Given the description of an element on the screen output the (x, y) to click on. 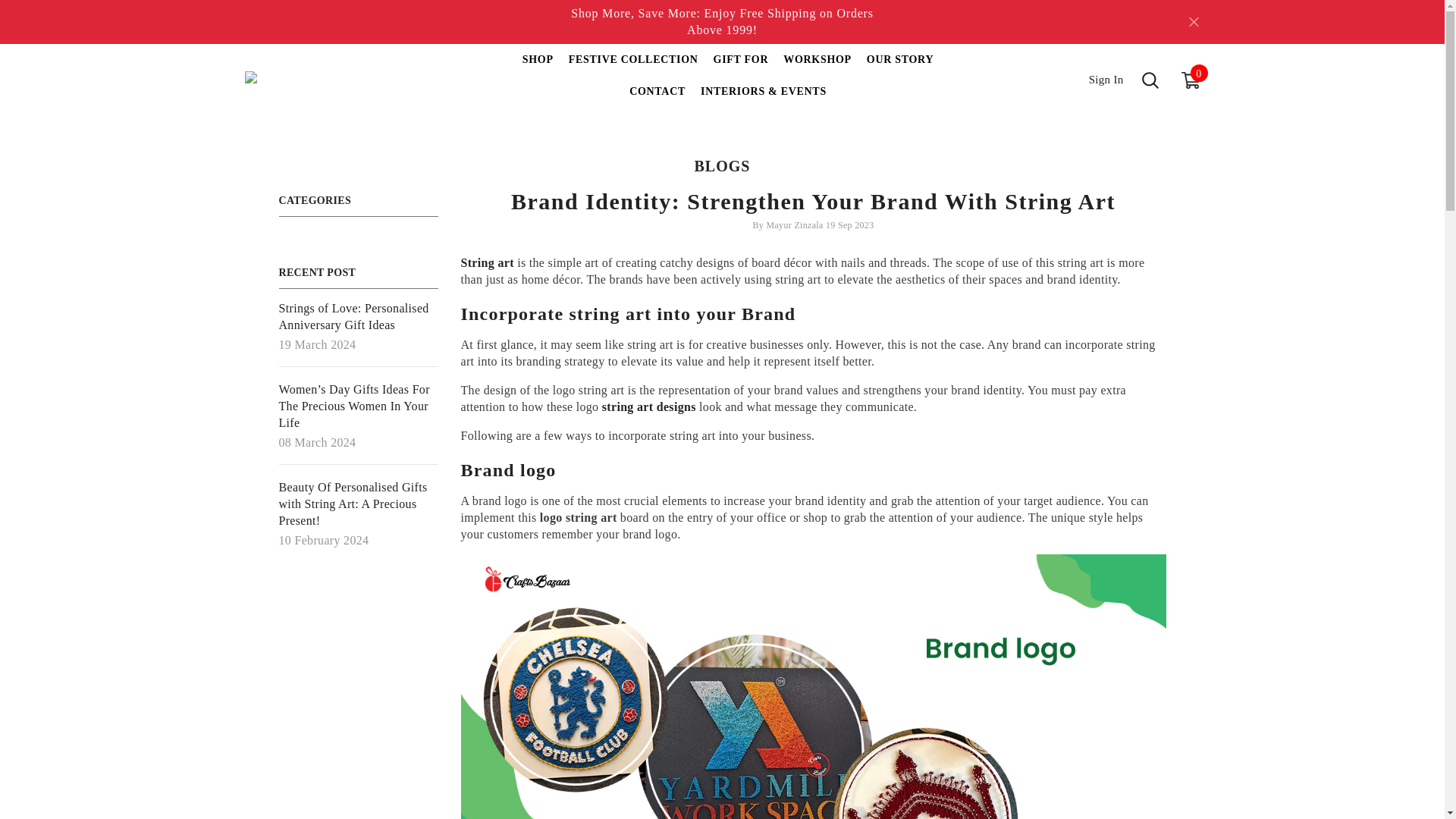
FESTIVE COLLECTION (633, 67)
Sign In (1097, 79)
SHOP (537, 67)
CONTACT (657, 99)
Strings of Love: Personalised Anniversary Gift Ideas (358, 316)
WORKSHOP (1189, 79)
OUR STORY (817, 67)
GIFT FOR (899, 67)
Close (741, 67)
